Given the description of an element on the screen output the (x, y) to click on. 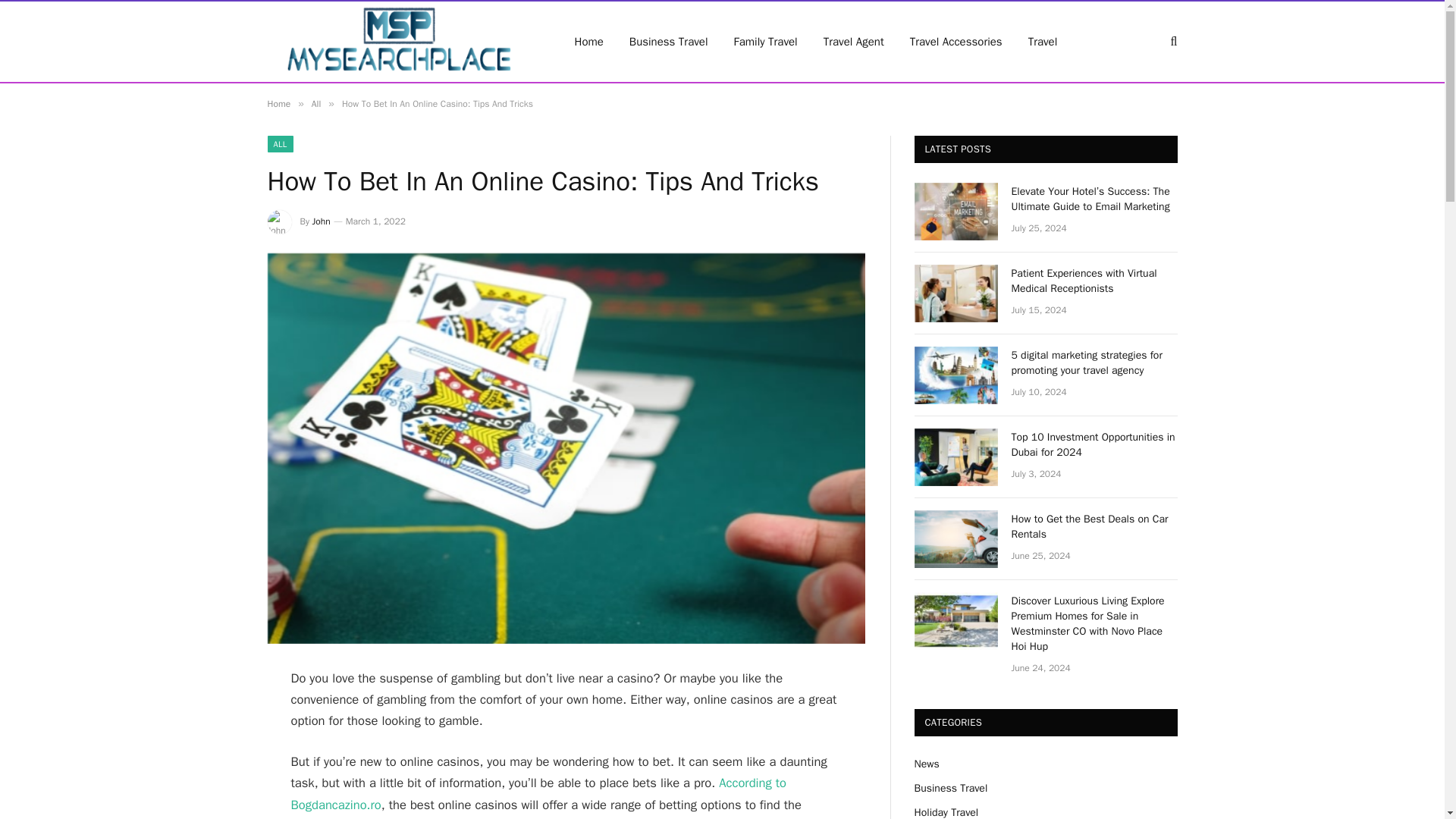
Top 10 Investment Opportunities in Dubai for 2024 (1094, 444)
ALL (279, 143)
Patient Experiences with Virtual Medical Receptionists (1094, 281)
Mysearchplace (400, 41)
Business Travel (667, 41)
Travel Accessories (955, 41)
Travel Agent (853, 41)
John (321, 221)
Family Travel (765, 41)
According to Bogdancazino.ro (539, 793)
Posts by John (321, 221)
Patient Experiences with Virtual Medical Receptionists (955, 293)
Home (277, 103)
